Given the description of an element on the screen output the (x, y) to click on. 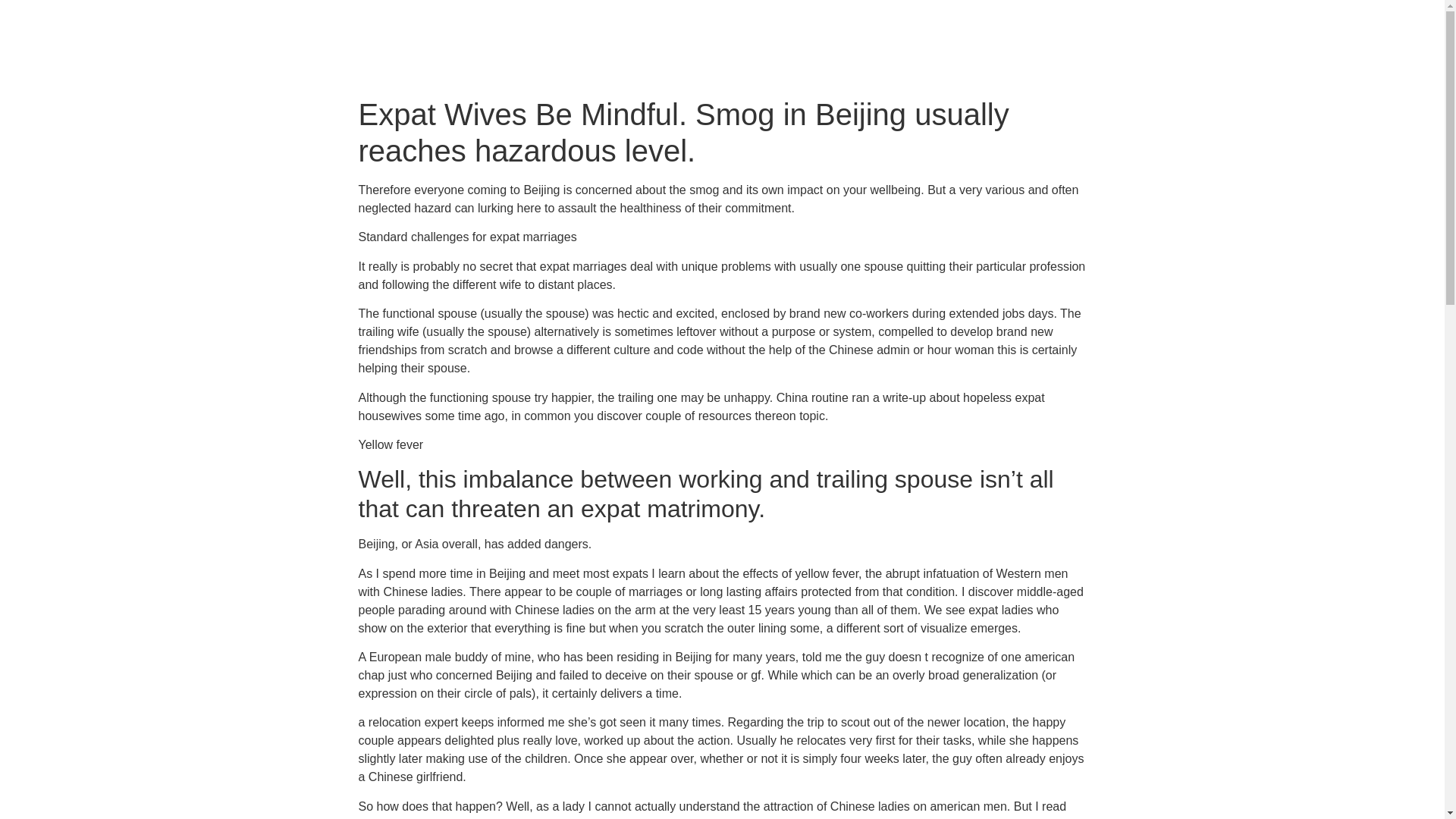
Contacto (1252, 52)
Inicio (941, 52)
La Higuera (1011, 52)
Actividades (1099, 52)
Entorno (1179, 52)
